Given the description of an element on the screen output the (x, y) to click on. 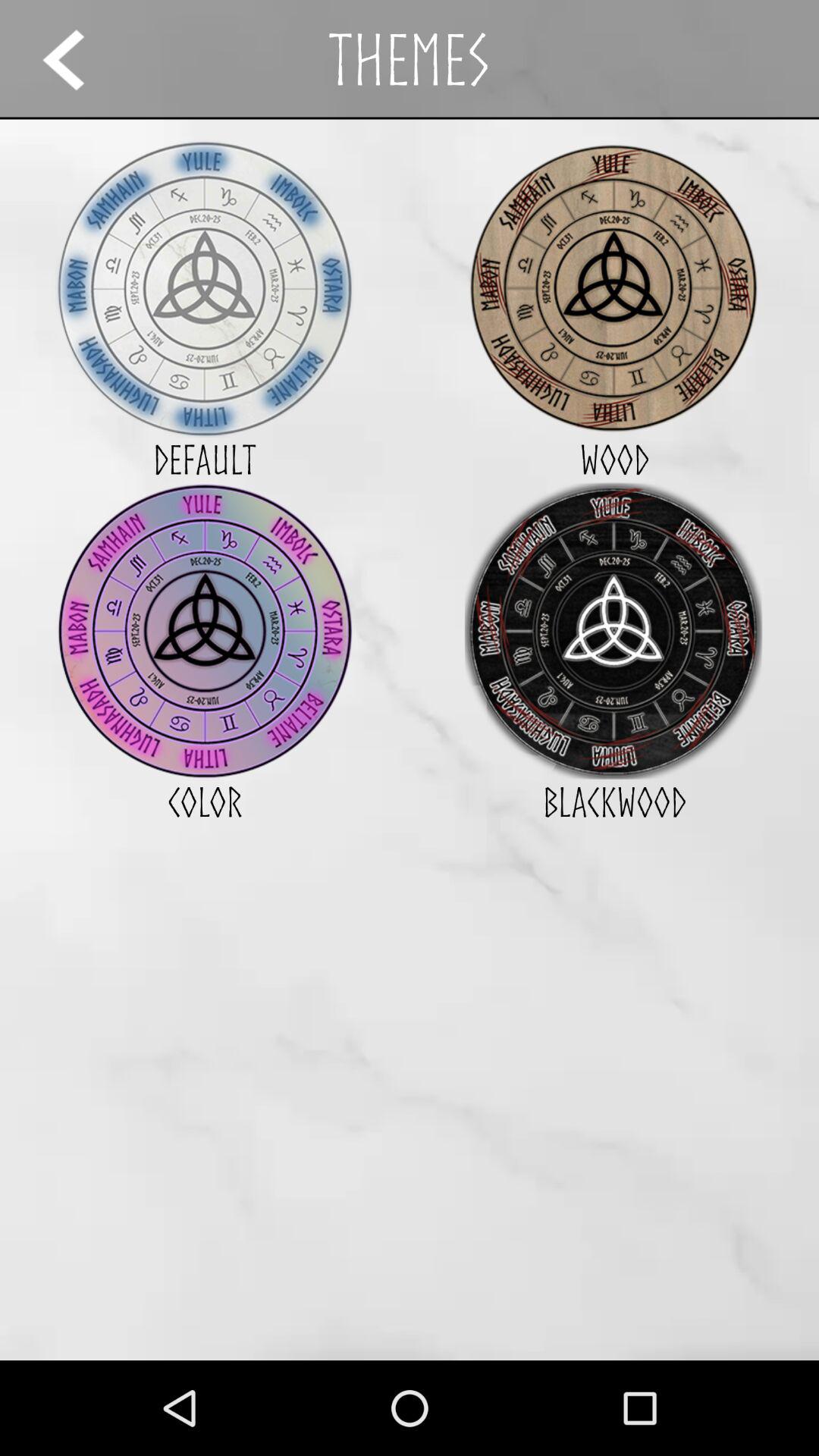
click the app to the left of themes app (77, 59)
